Given the description of an element on the screen output the (x, y) to click on. 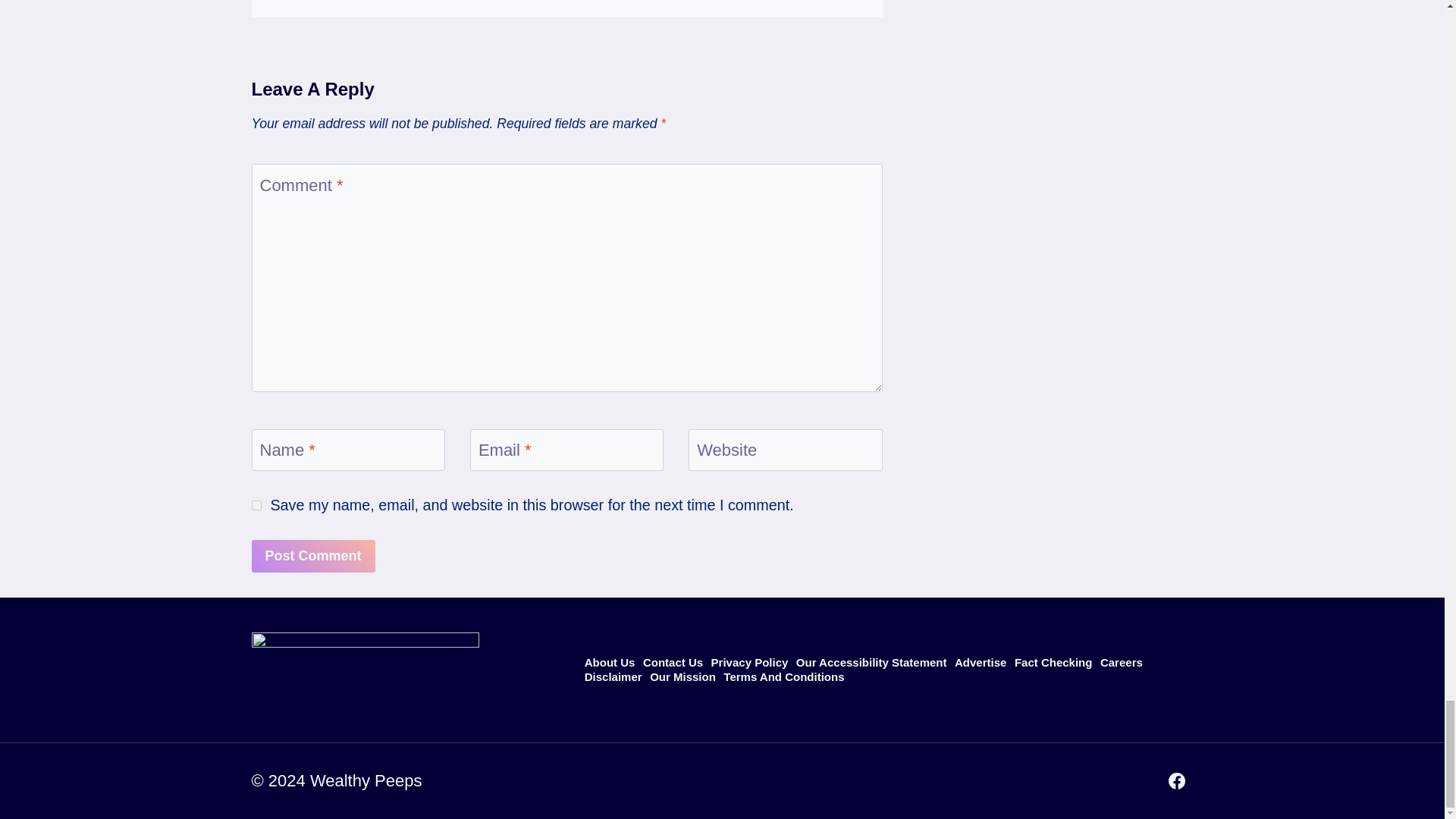
Post Comment (313, 555)
yes (256, 505)
